Given the description of an element on the screen output the (x, y) to click on. 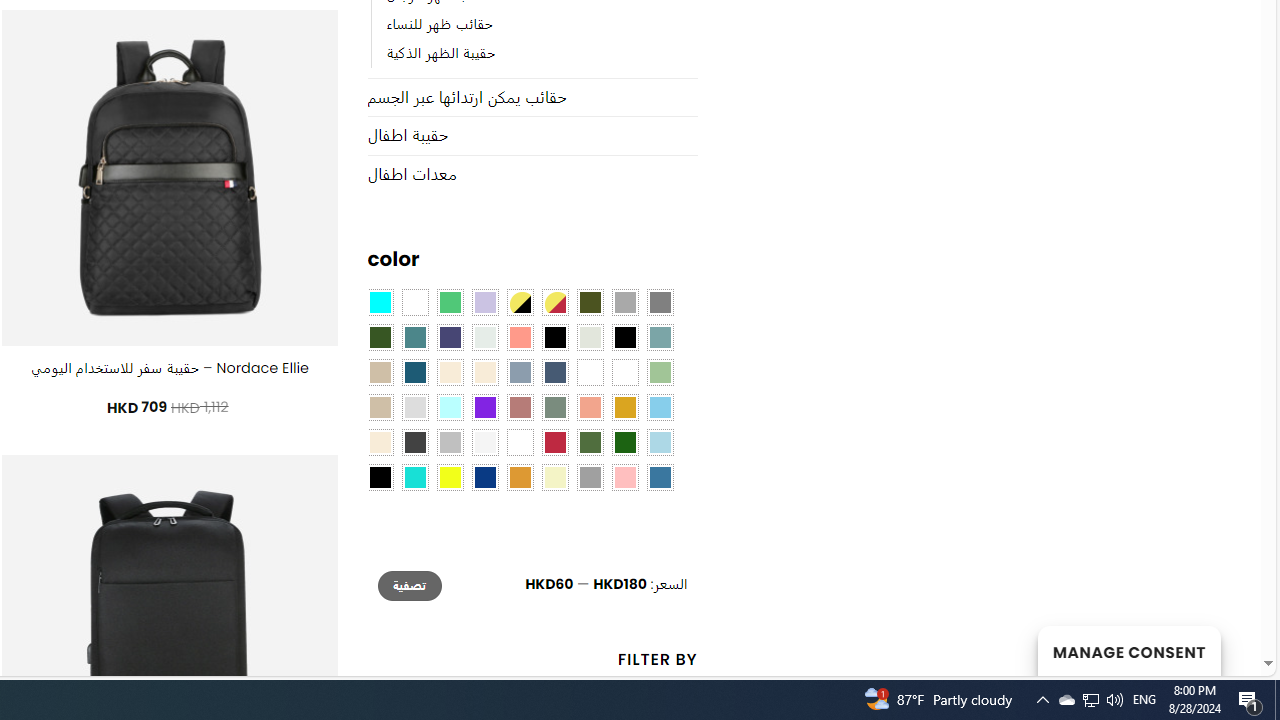
Forest (379, 337)
Light Taupe (379, 408)
All Black (554, 337)
